Given the description of an element on the screen output the (x, y) to click on. 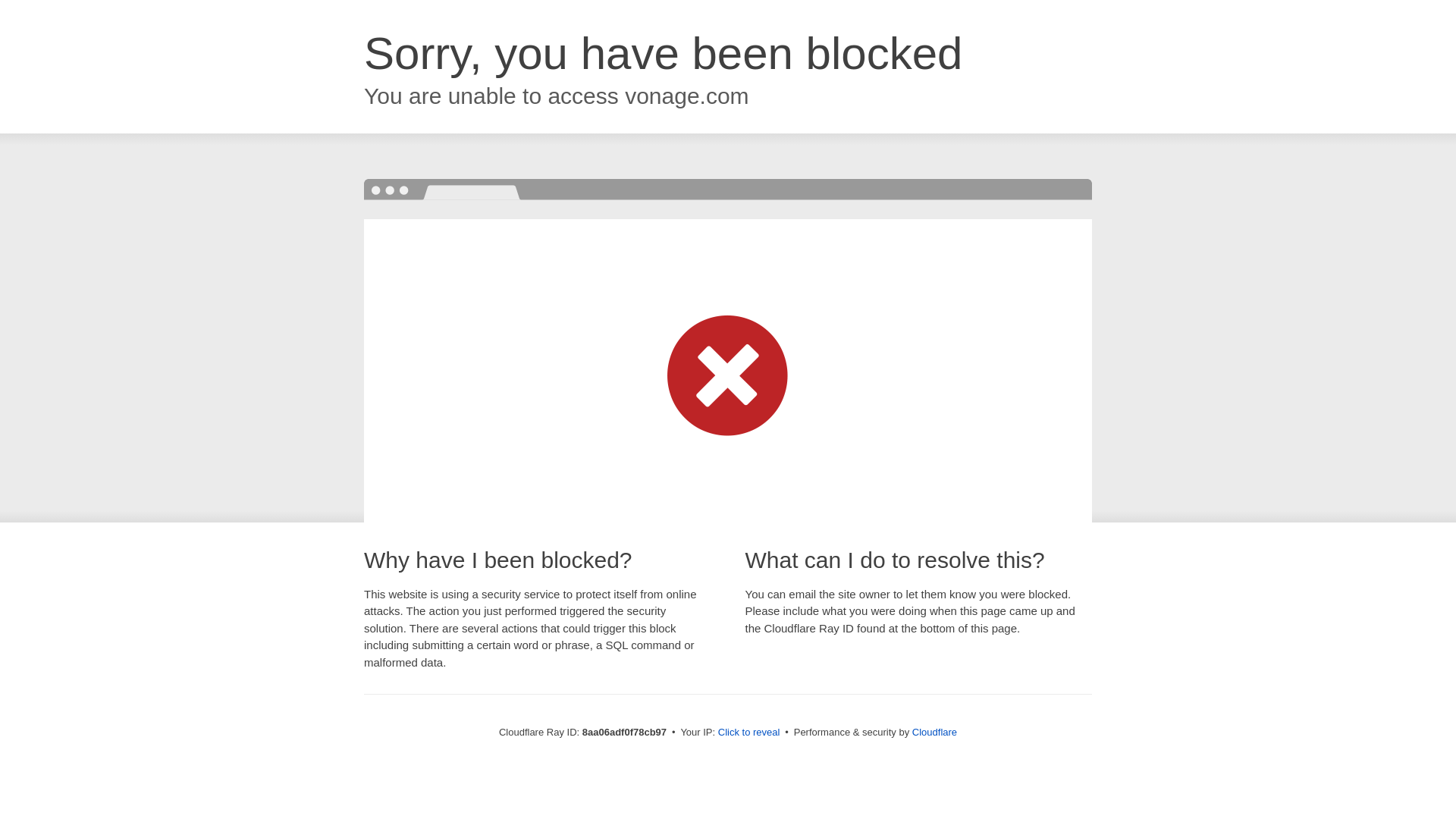
Cloudflare (934, 731)
Click to reveal (748, 732)
